Given the description of an element on the screen output the (x, y) to click on. 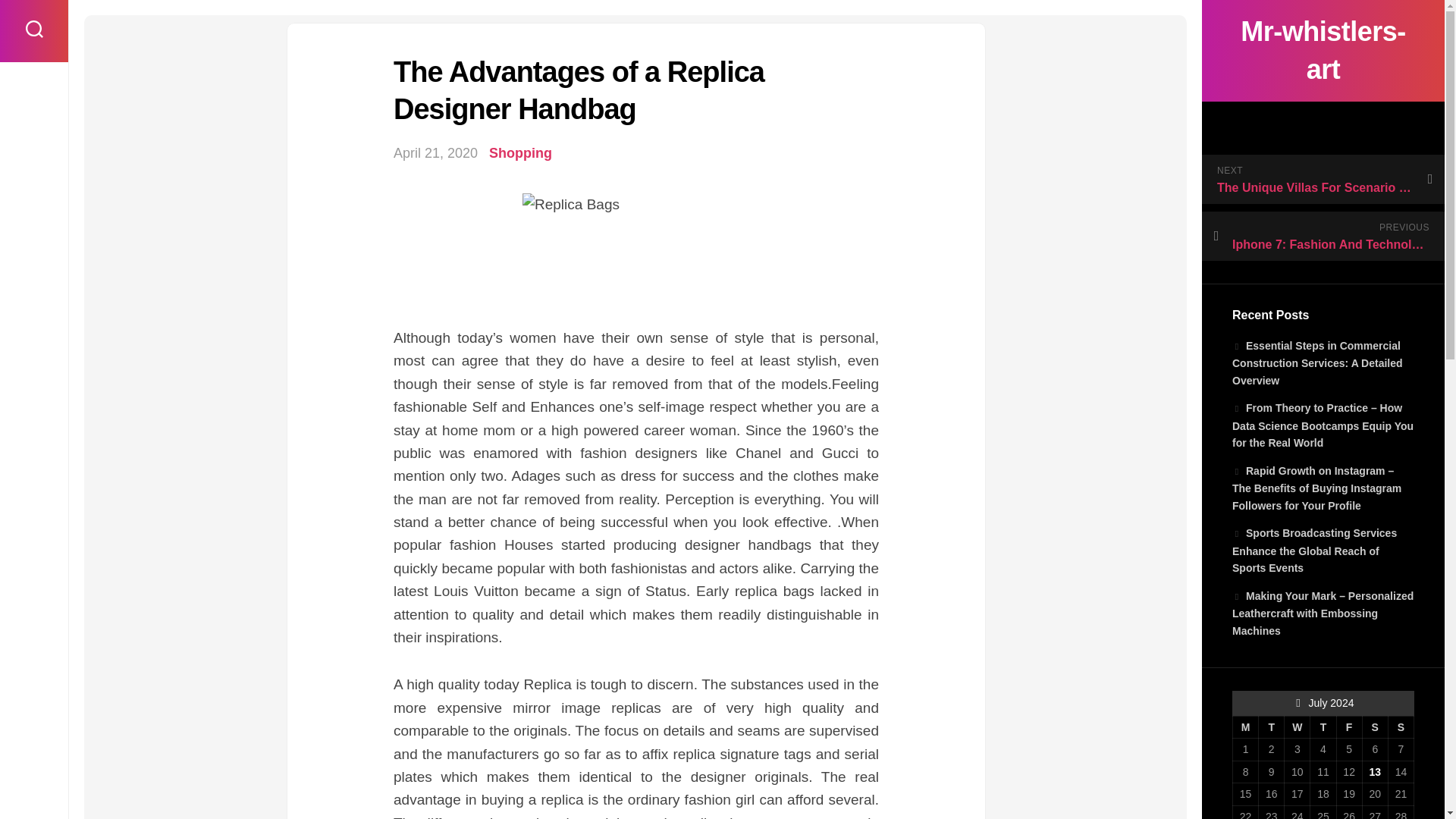
Wednesday (1297, 726)
Tuesday (1271, 726)
Friday (1348, 726)
13 (1374, 771)
Sunday (1400, 726)
Thursday (1323, 726)
Monday (1246, 726)
Saturday (1374, 726)
Mr-whistlers-art (1322, 50)
